Given the description of an element on the screen output the (x, y) to click on. 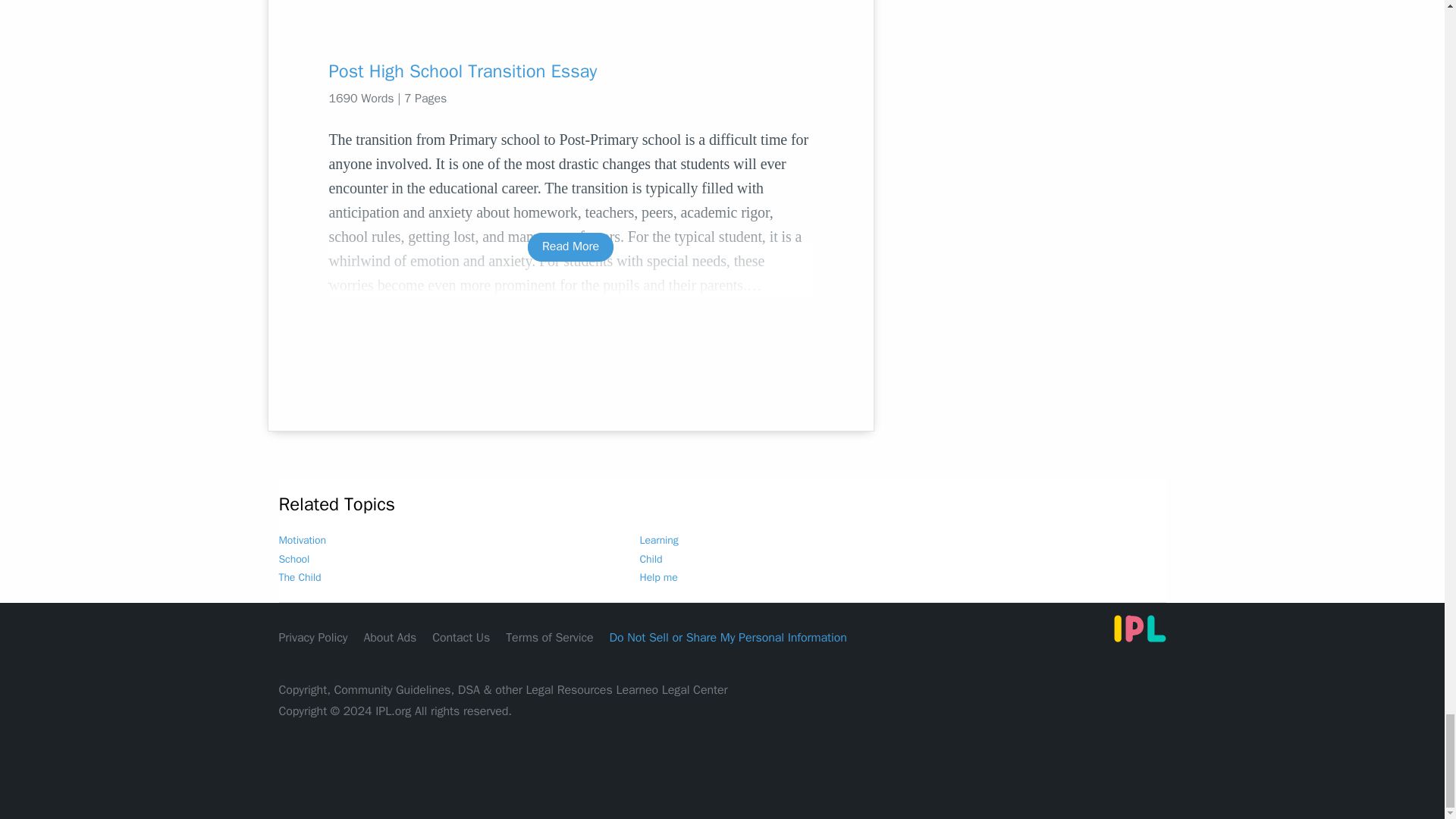
Contact Us (460, 637)
Learning (659, 540)
School (294, 558)
The Child (300, 576)
Terms of Service (548, 637)
About Ads (389, 637)
Help me (659, 576)
Motivation (302, 540)
Privacy Policy (313, 637)
Child (651, 558)
